Given the description of an element on the screen output the (x, y) to click on. 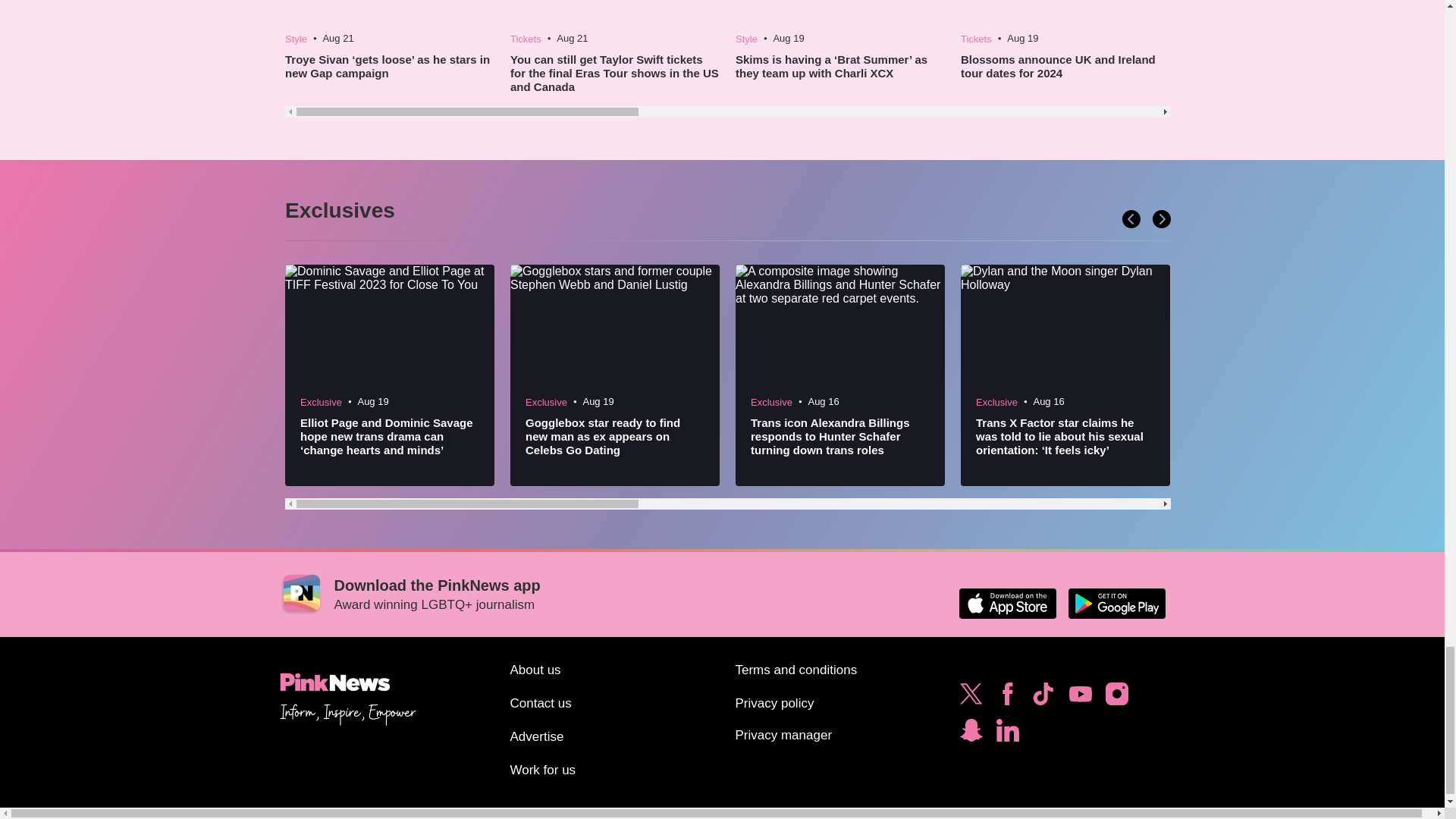
Follow PinkNews on TikTok (1042, 697)
Follow PinkNews on Instagram (1116, 697)
Download the PinkNews app on Google Play (1115, 603)
Subscribe to PinkNews on YouTube (1079, 697)
Follow PinkNews on Twitter (970, 697)
Follow PinkNews on LinkedIn (1007, 733)
Download the PinkNews app on the Apple App Store (1006, 603)
Subscribe to PinkNews on Snapchat (970, 733)
